Given the description of an element on the screen output the (x, y) to click on. 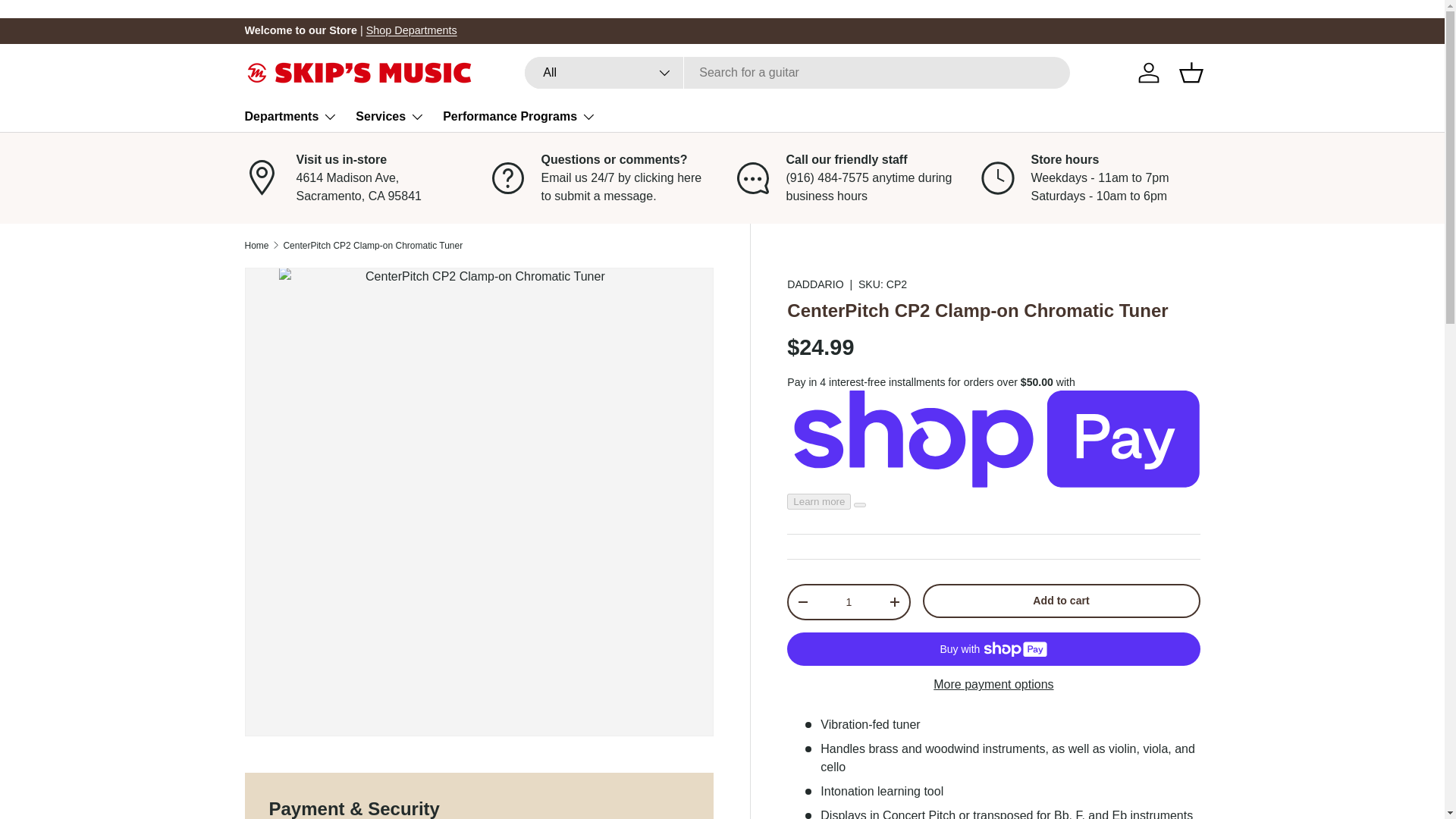
Gift Card (1338, 30)
All collections (411, 30)
Grab a Gift Card! (1338, 30)
Services (390, 116)
Log in (1147, 72)
Skip to content (69, 21)
1 (847, 602)
Departments (290, 116)
All (604, 72)
Shop Departments (411, 30)
Basket (1190, 72)
